Given the description of an element on the screen output the (x, y) to click on. 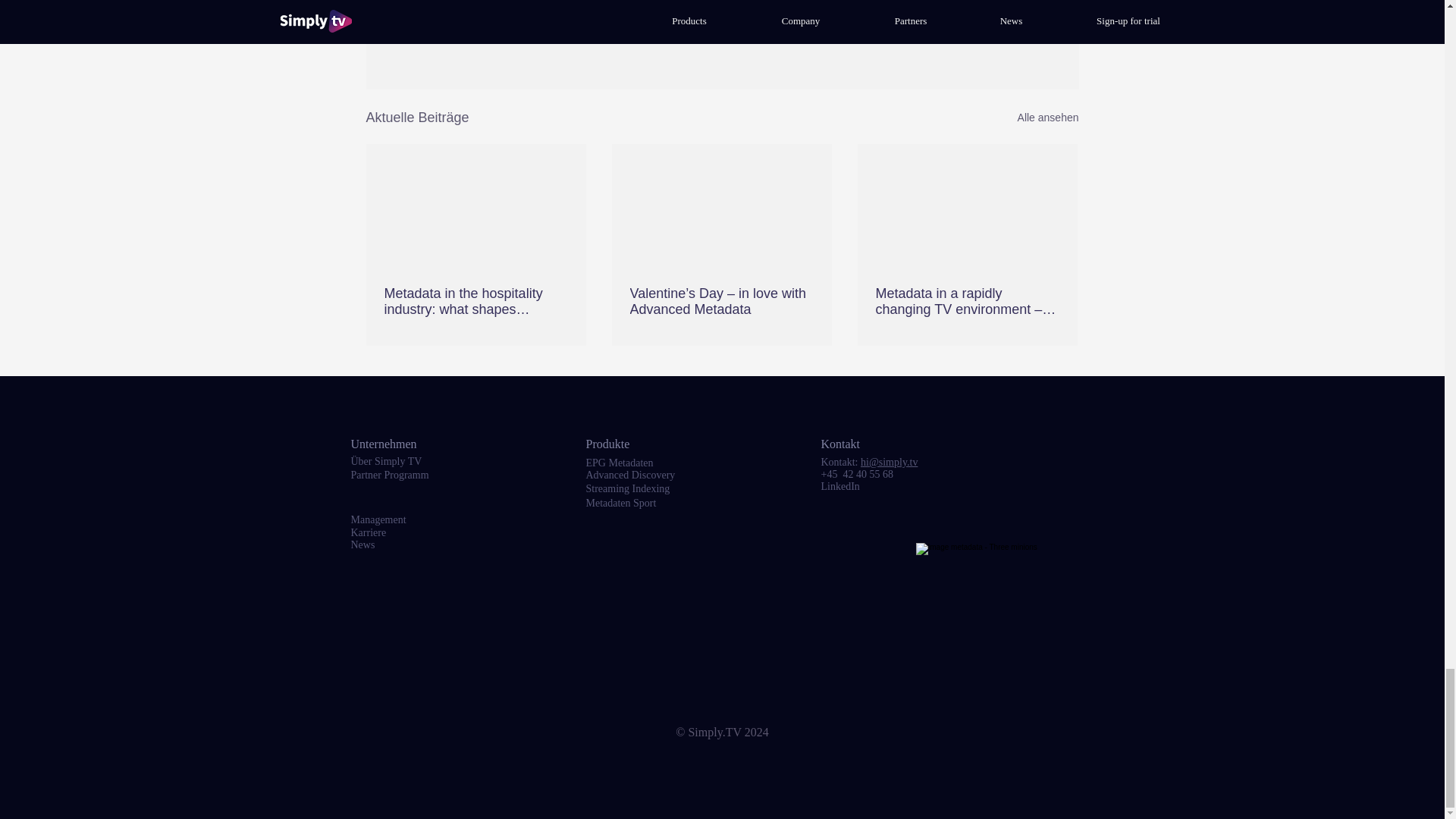
Metadaten Sport (620, 502)
Industry Updates (878, 20)
Karriere (367, 532)
Partner Programm (389, 474)
Advanced Discovery (630, 474)
EPG Metadaten (618, 462)
LinkedIn (840, 486)
Management (378, 519)
Alle ansehen (1047, 117)
News (362, 544)
Daily Blogging (968, 20)
Streaming Indexing (627, 488)
